Given the description of an element on the screen output the (x, y) to click on. 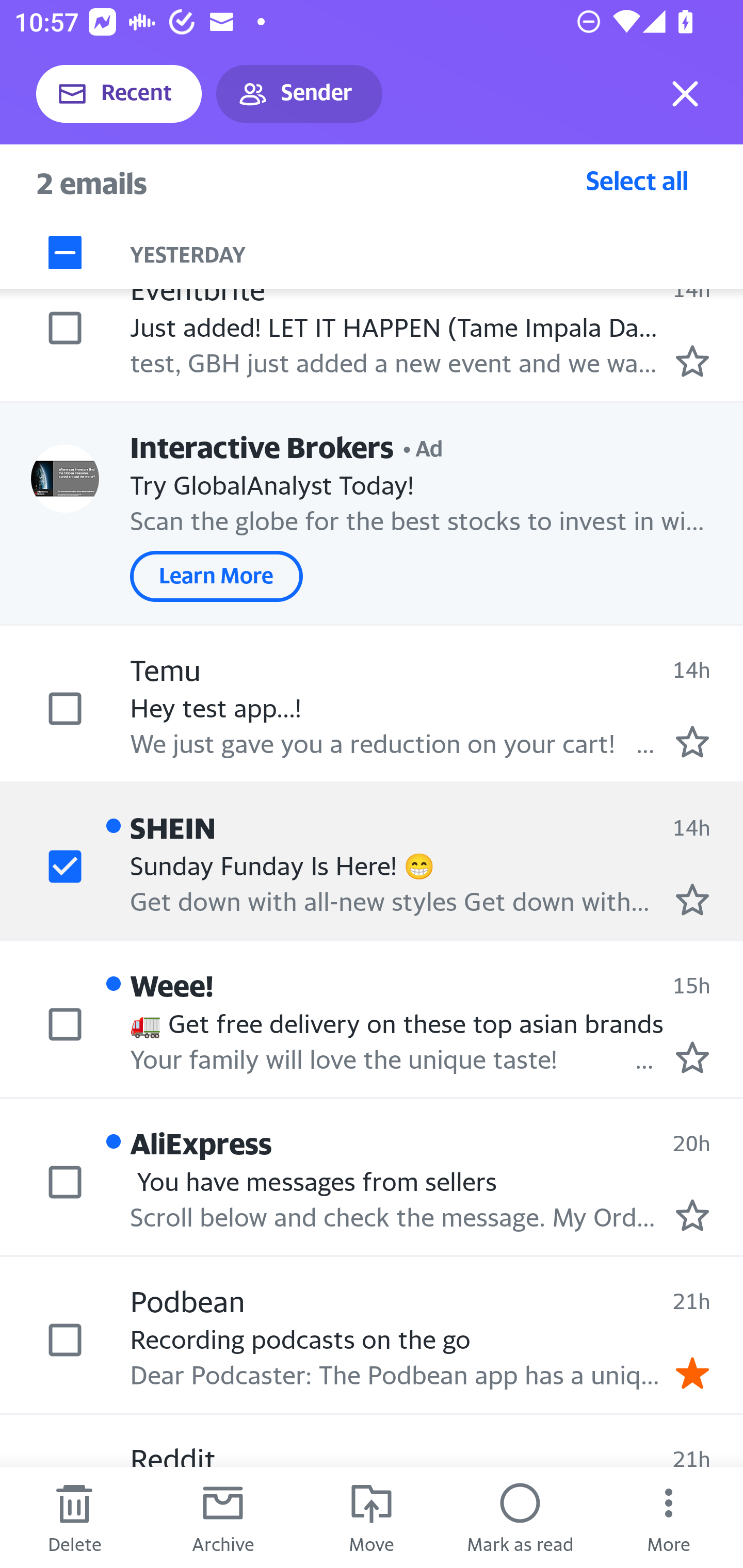
Sender (299, 93)
Exit selection mode (684, 93)
Select all (637, 180)
Mark as starred. (692, 361)
Mark as starred. (692, 742)
Mark as starred. (692, 899)
Mark as starred. (692, 1057)
Mark as starred. (692, 1215)
Remove star. (692, 1372)
Delete (74, 1517)
Archive (222, 1517)
Move (371, 1517)
Mark as read (519, 1517)
More (668, 1517)
